Given the description of an element on the screen output the (x, y) to click on. 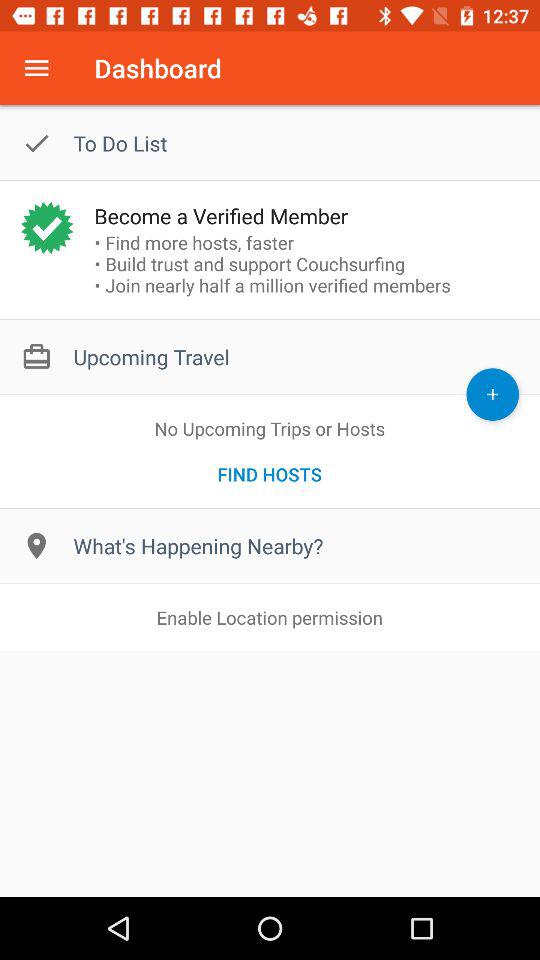
click to menu option (36, 68)
